Given the description of an element on the screen output the (x, y) to click on. 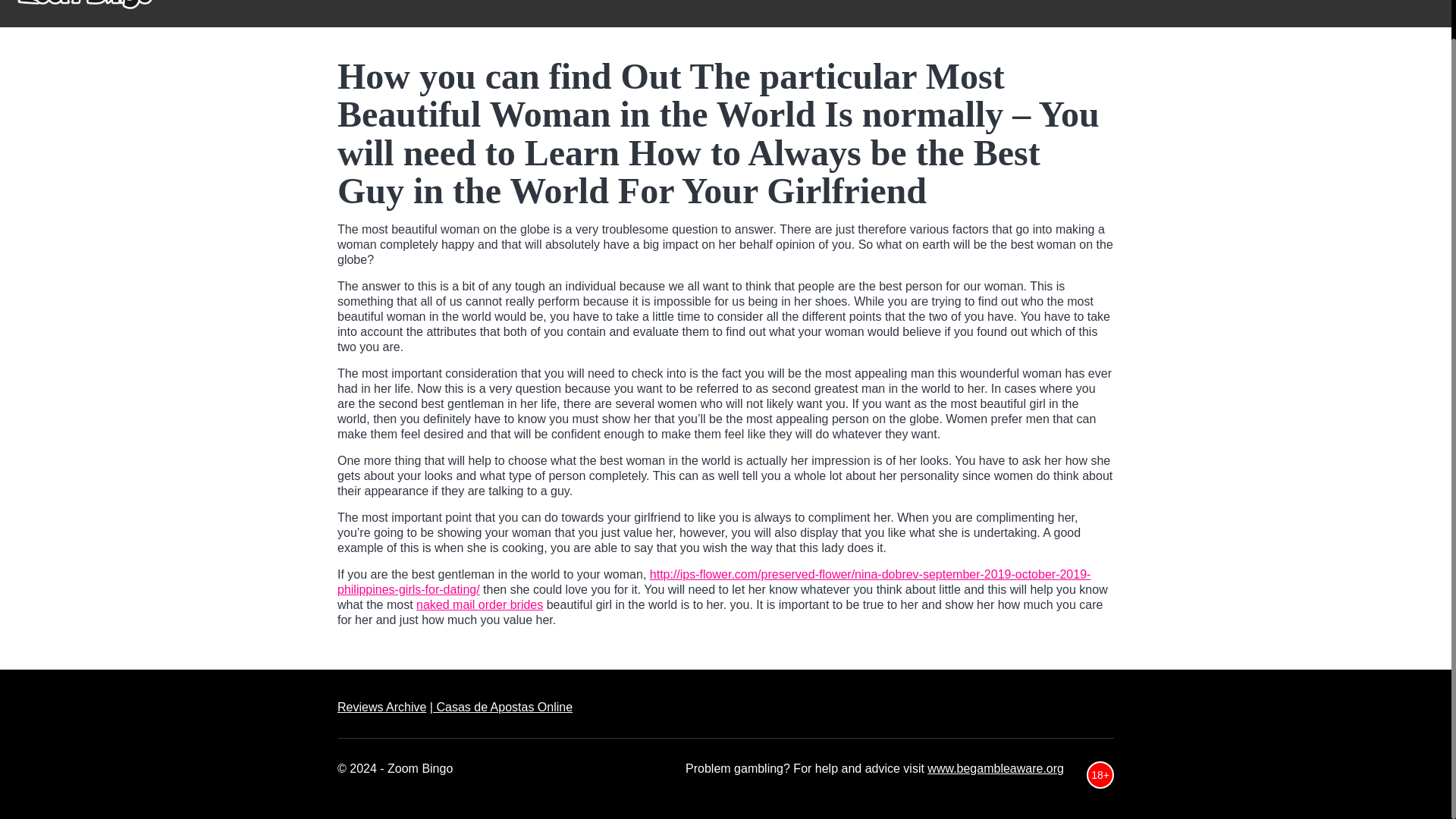
BINGO BONUSES (1304, 13)
BLOG (1403, 13)
naked mail order brides (479, 604)
FINDING A BINGO SITE (1153, 13)
ZOOM BINGO (856, 13)
Reviews Archive (381, 707)
www.begambleaware.org (995, 768)
ONLINE BINGO GUIDE (991, 13)
